Given the description of an element on the screen output the (x, y) to click on. 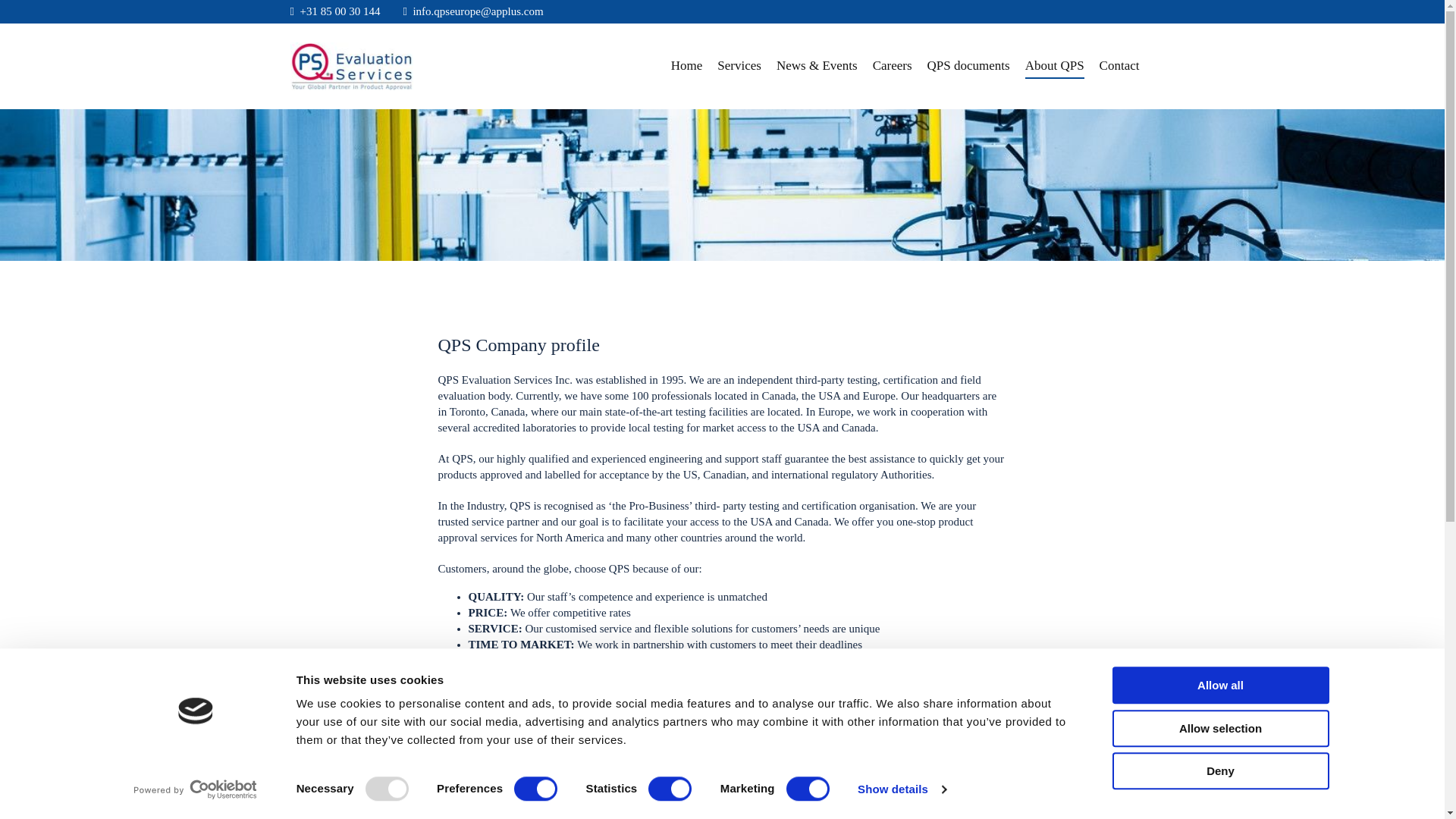
Allow selection (1219, 728)
Show details (900, 789)
About QPS (1054, 66)
Careers (892, 65)
QPS documents (968, 65)
Services (739, 65)
Deny (1219, 770)
Allow all (1219, 684)
Home (687, 65)
